Given the description of an element on the screen output the (x, y) to click on. 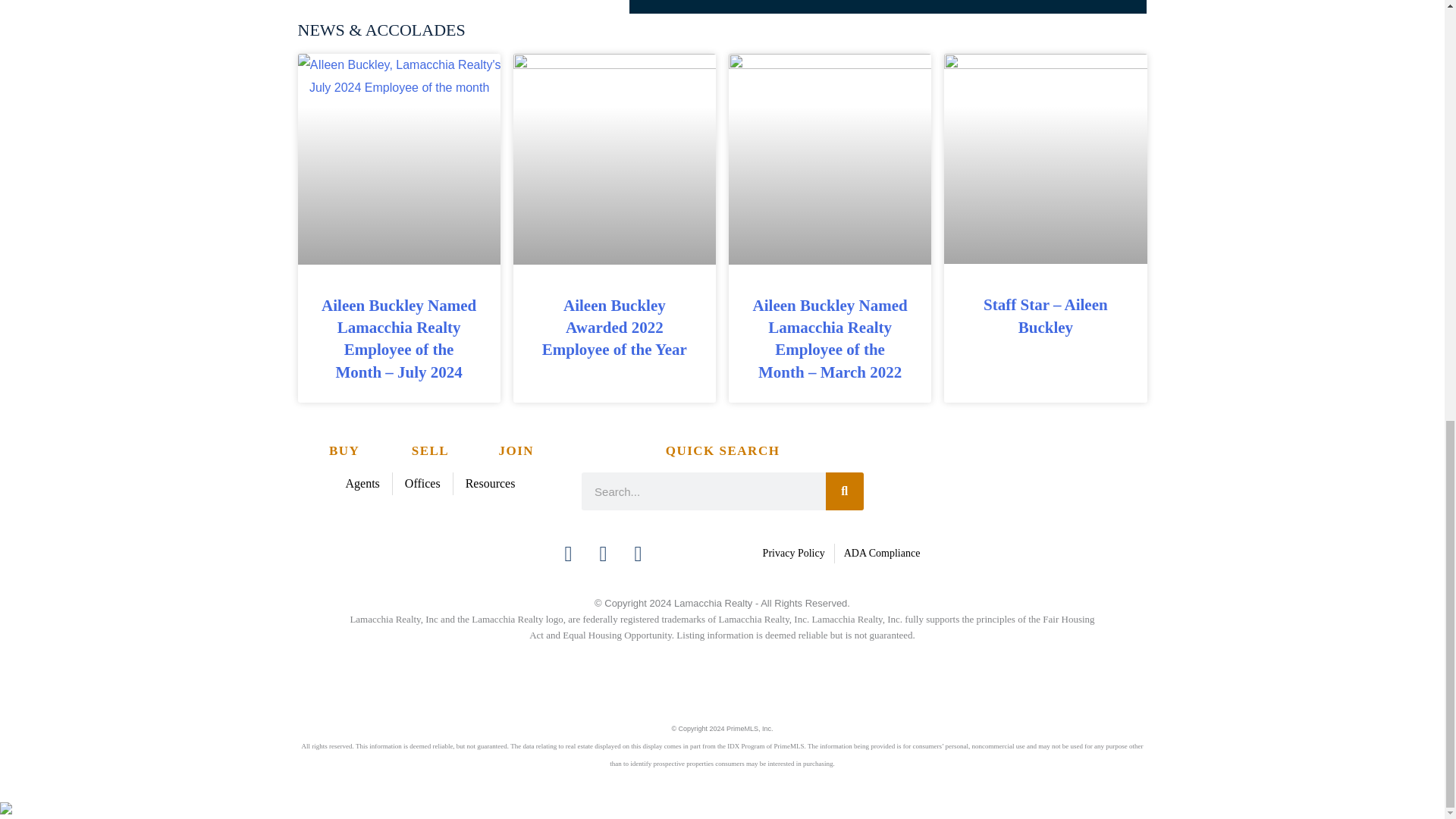
JOIN (515, 450)
Aileen Buckley Awarded 2022 Employee of the Year (614, 327)
SELL (430, 450)
BUY (344, 450)
